Given the description of an element on the screen output the (x, y) to click on. 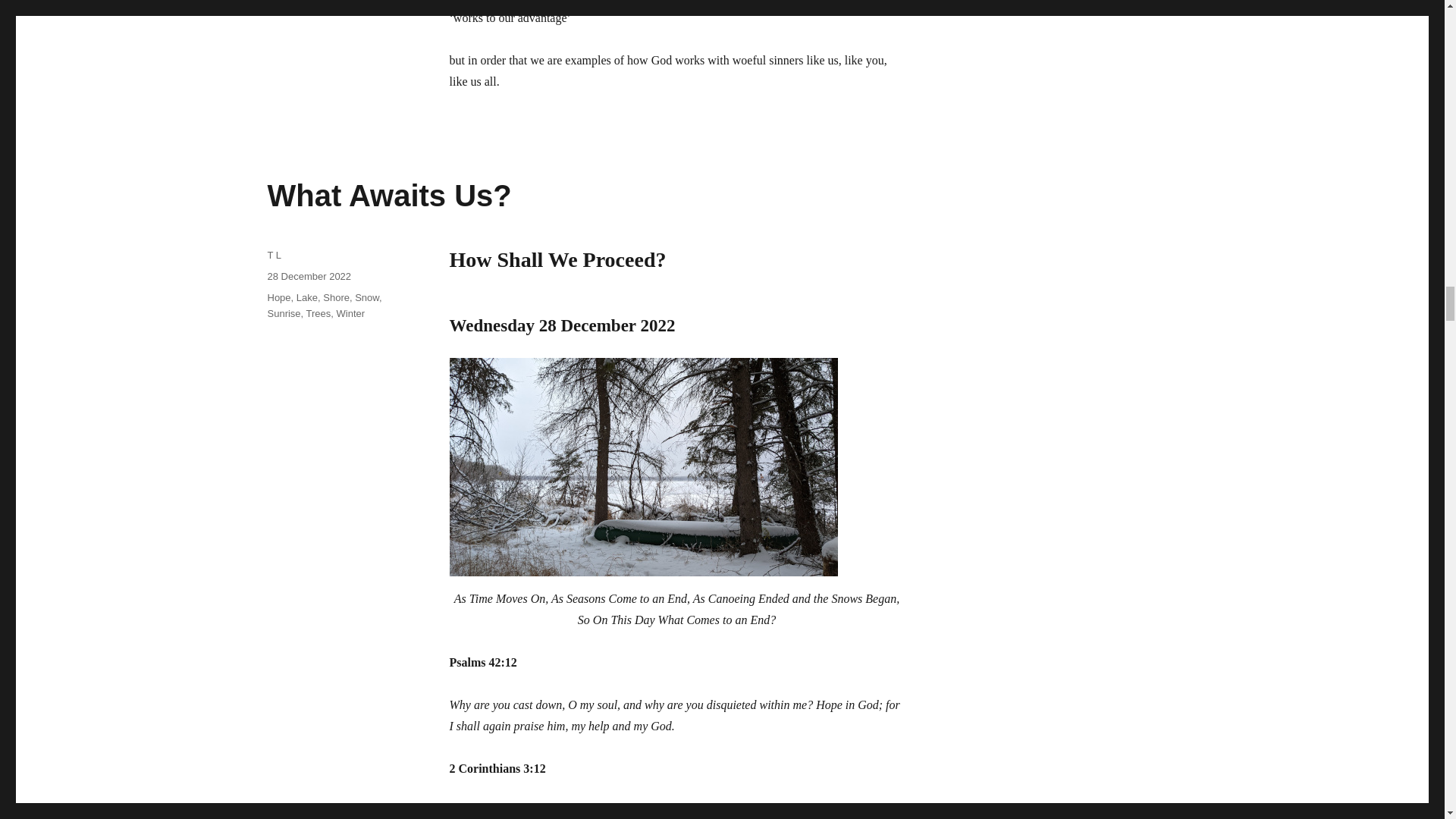
What Awaits Us? (388, 195)
Lake (307, 297)
T L (273, 255)
Sunrise (282, 313)
Shore (336, 297)
28 December 2022 (308, 276)
Snow (366, 297)
Hope (277, 297)
